Given the description of an element on the screen output the (x, y) to click on. 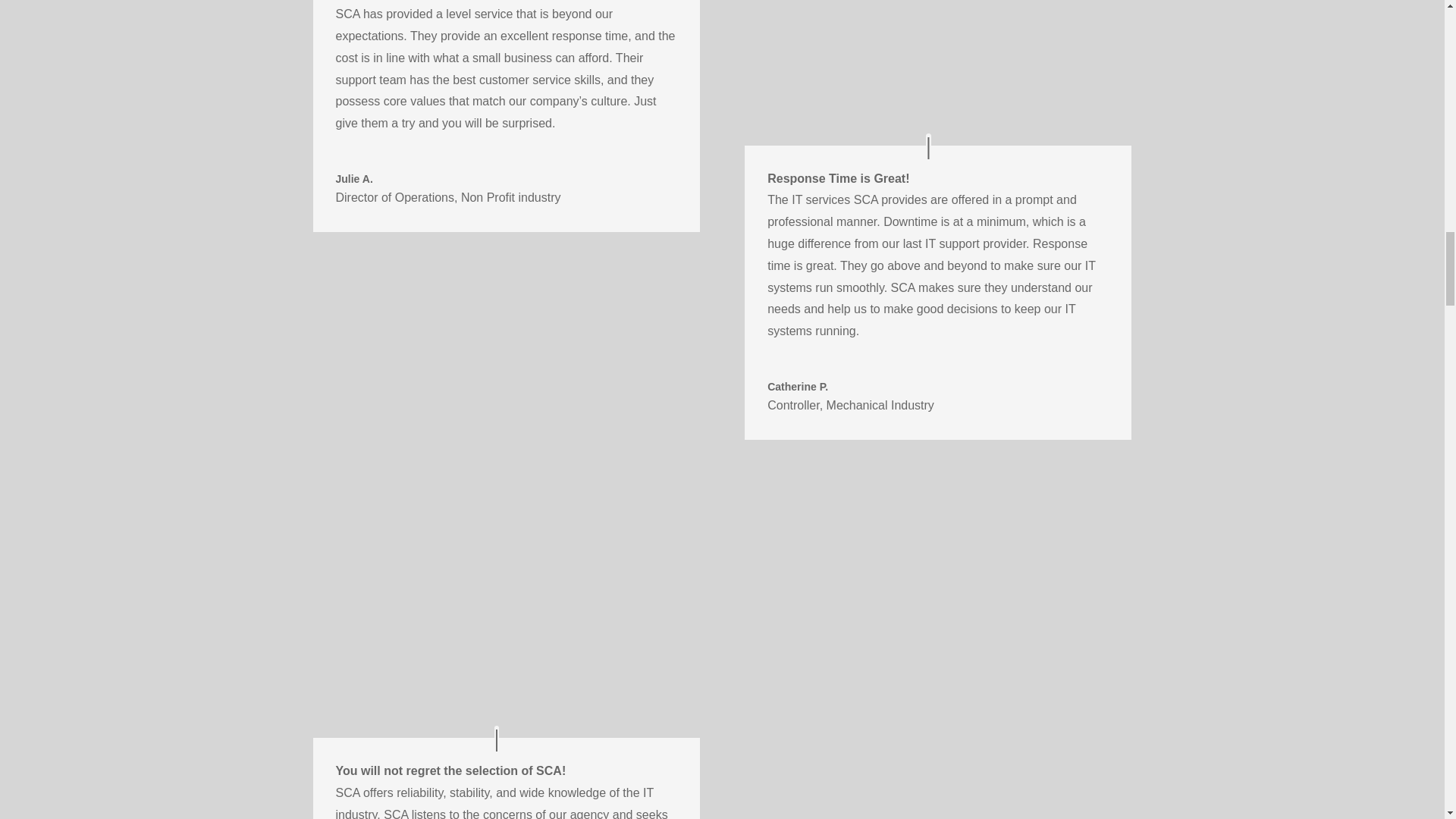
Which Charter School Testing Company To Use? (937, 61)
